Given the description of an element on the screen output the (x, y) to click on. 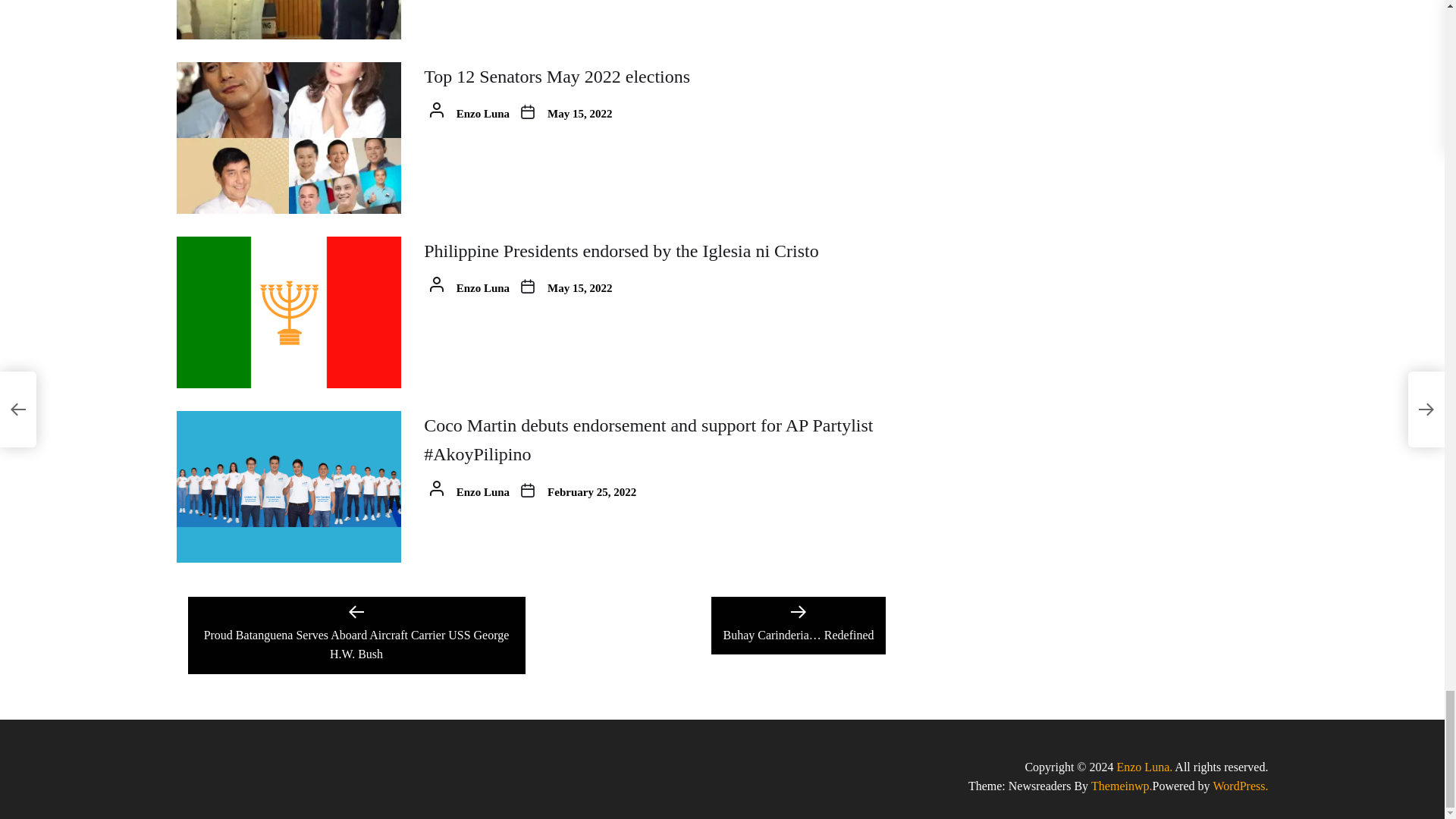
Enzo Luna (1144, 767)
Themeinwp (1120, 786)
WordPress (1240, 786)
